Given the description of an element on the screen output the (x, y) to click on. 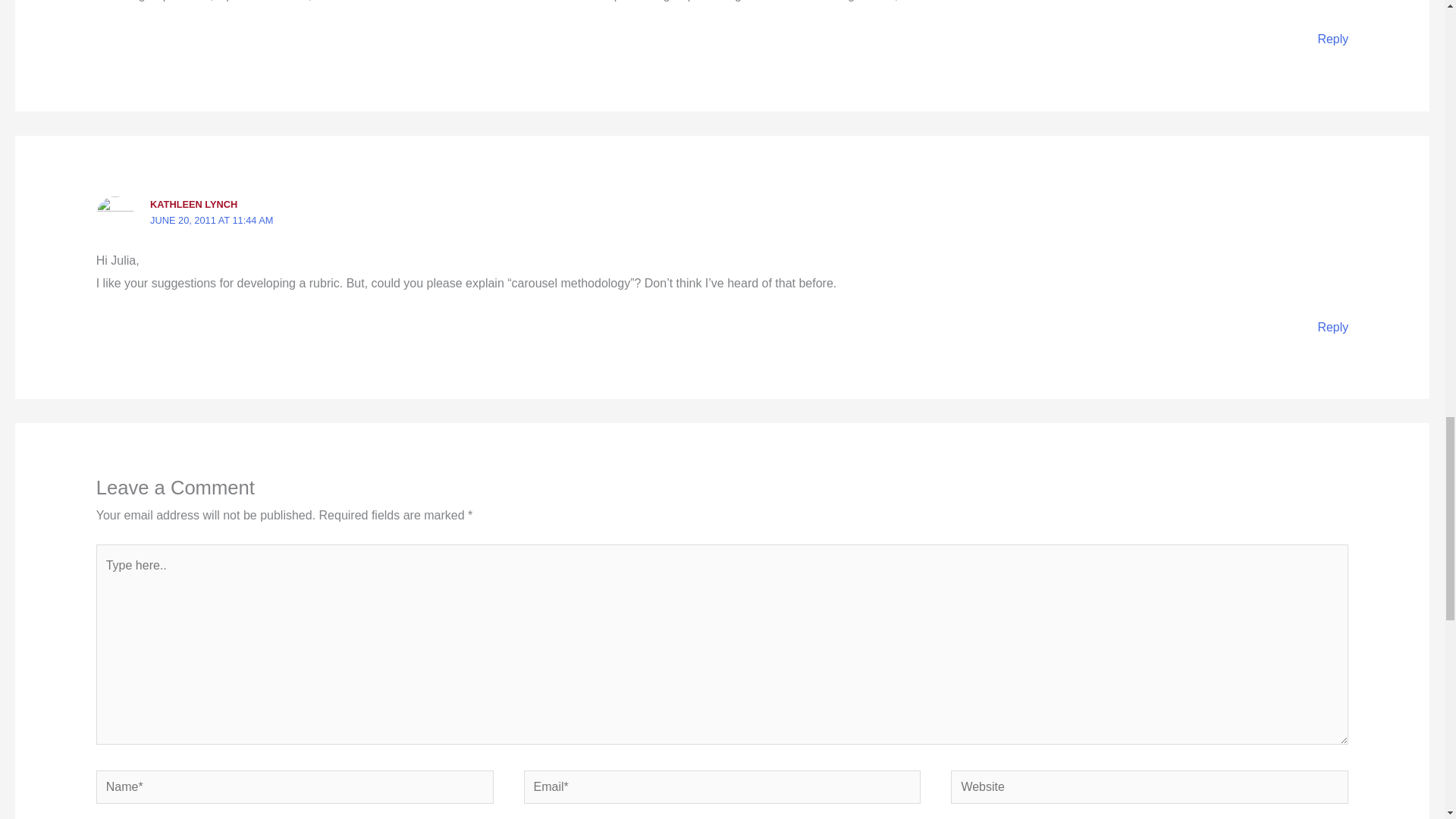
Reply (1332, 38)
JUNE 20, 2011 AT 11:44 AM (211, 220)
Reply (1332, 327)
